Given the description of an element on the screen output the (x, y) to click on. 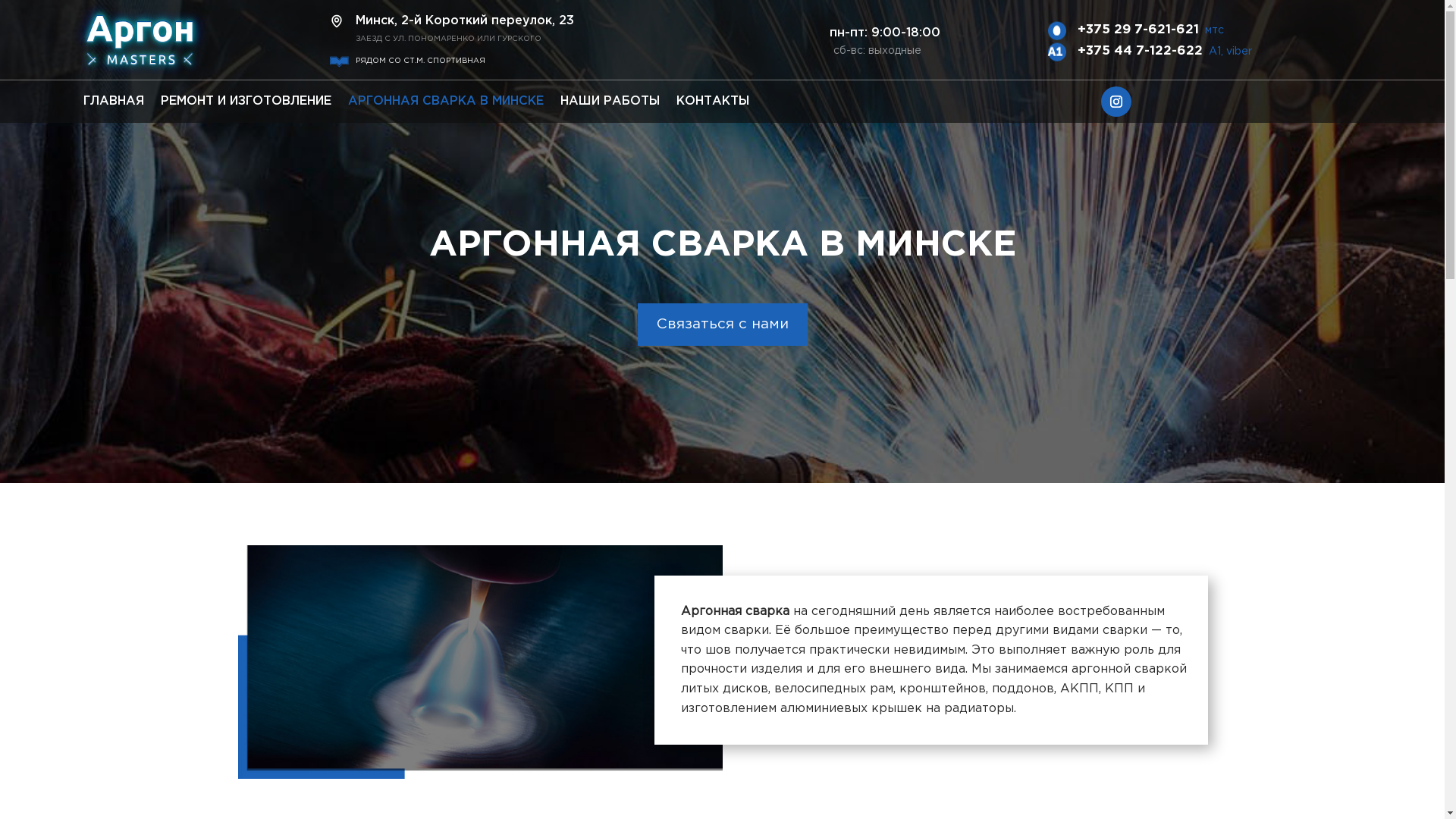
67-22 Element type: hover (139, 41)
+375 29 7-621-621 Element type: text (1137, 29)
+375 44 7-122-622 Element type: text (1139, 50)
